Given the description of an element on the screen output the (x, y) to click on. 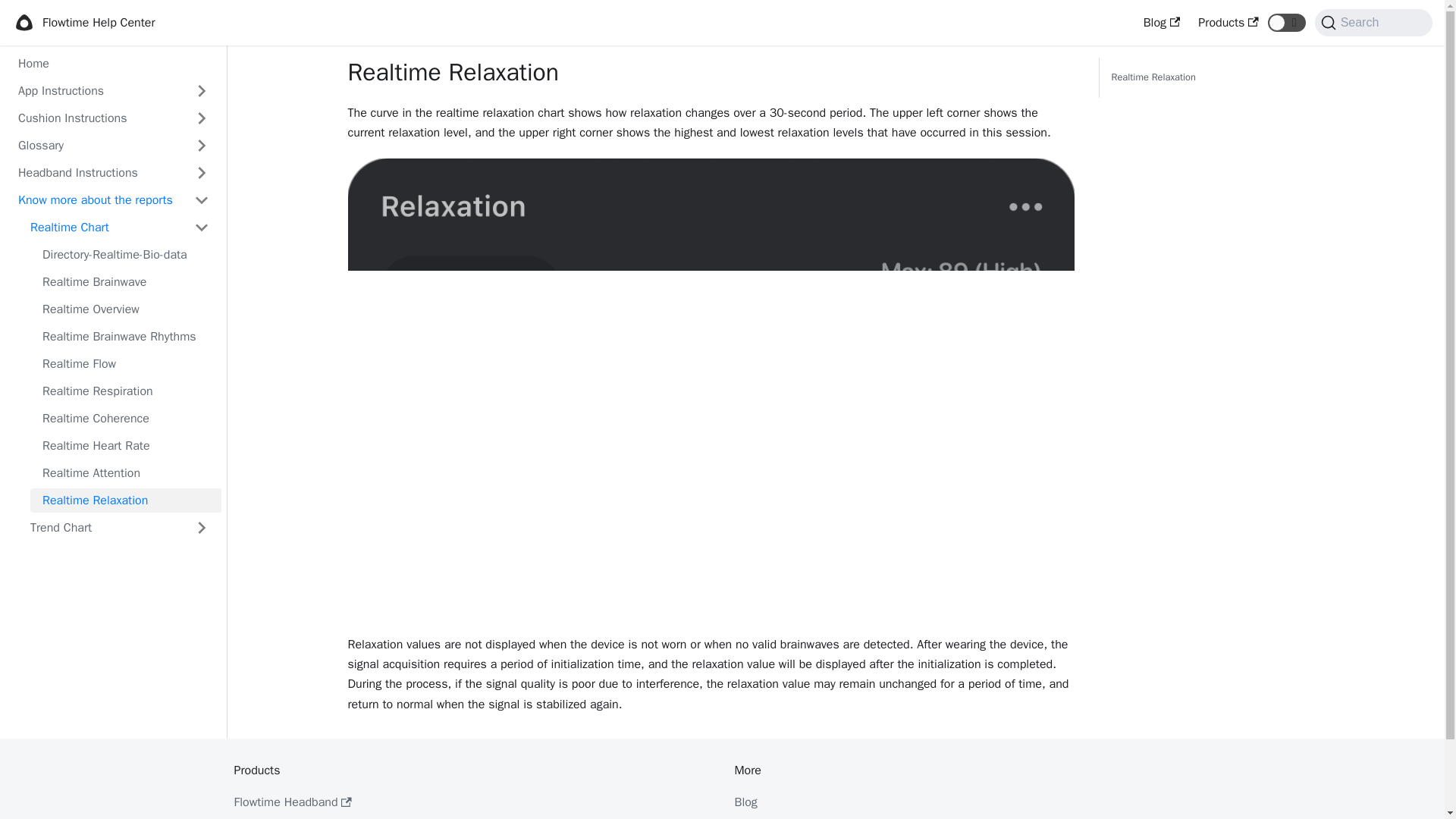
Realtime Relaxation (1153, 77)
Realtime Brainwave Rhythms (125, 336)
Products (1227, 22)
Realtime Heart Rate (125, 445)
Directory-Realtime-Bio-data (125, 254)
Realtime Overview (125, 309)
Home (113, 63)
Blog (1161, 22)
Flowtime Help Center (83, 22)
